Given the description of an element on the screen output the (x, y) to click on. 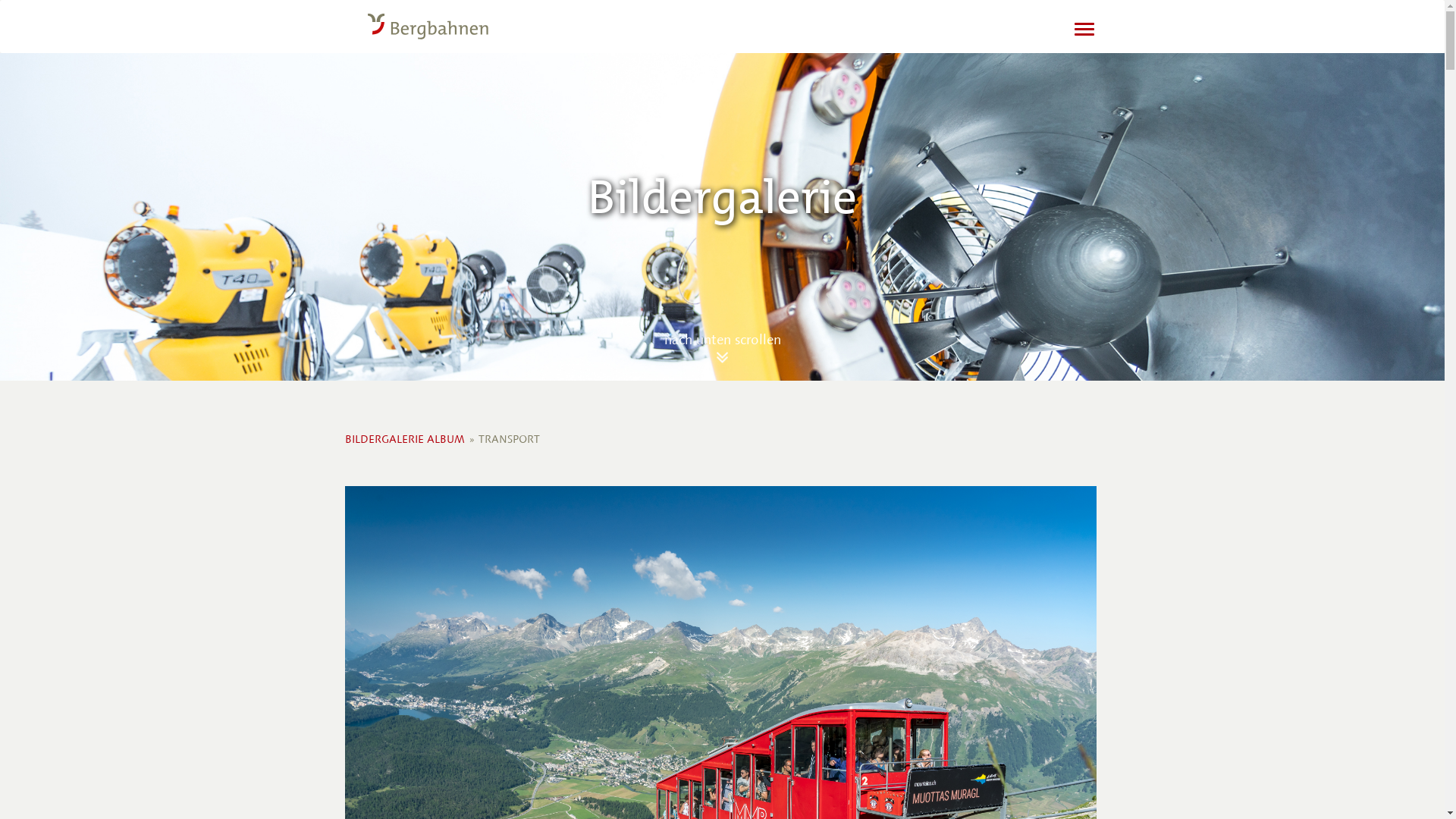
BILDERGALERIE ALBUM Element type: text (404, 439)
nach unten scrollen Element type: text (722, 339)
Toggle navigation Element type: text (1083, 28)
